Given the description of an element on the screen output the (x, y) to click on. 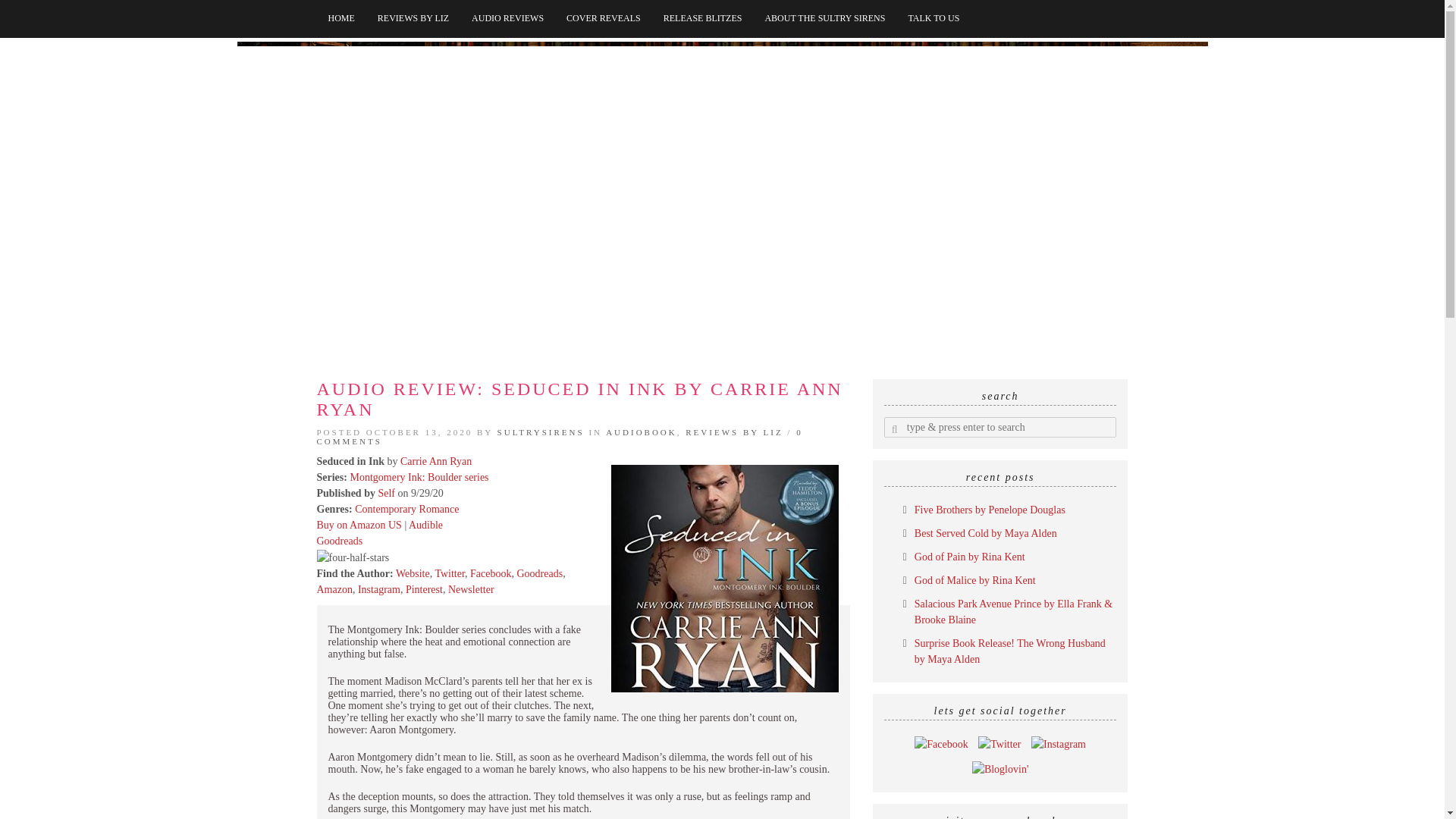
REVIEWS BY LIZ (734, 431)
Pinterest (424, 589)
Instagram (379, 589)
Website (412, 573)
Goodreads (339, 541)
Buy on Amazon US (359, 524)
0 COMMENTS (560, 436)
ABOUT THE SULTRY SIRENS (824, 18)
Montgomery Ink: Boulder series (418, 477)
Twitter (448, 573)
